Given the description of an element on the screen output the (x, y) to click on. 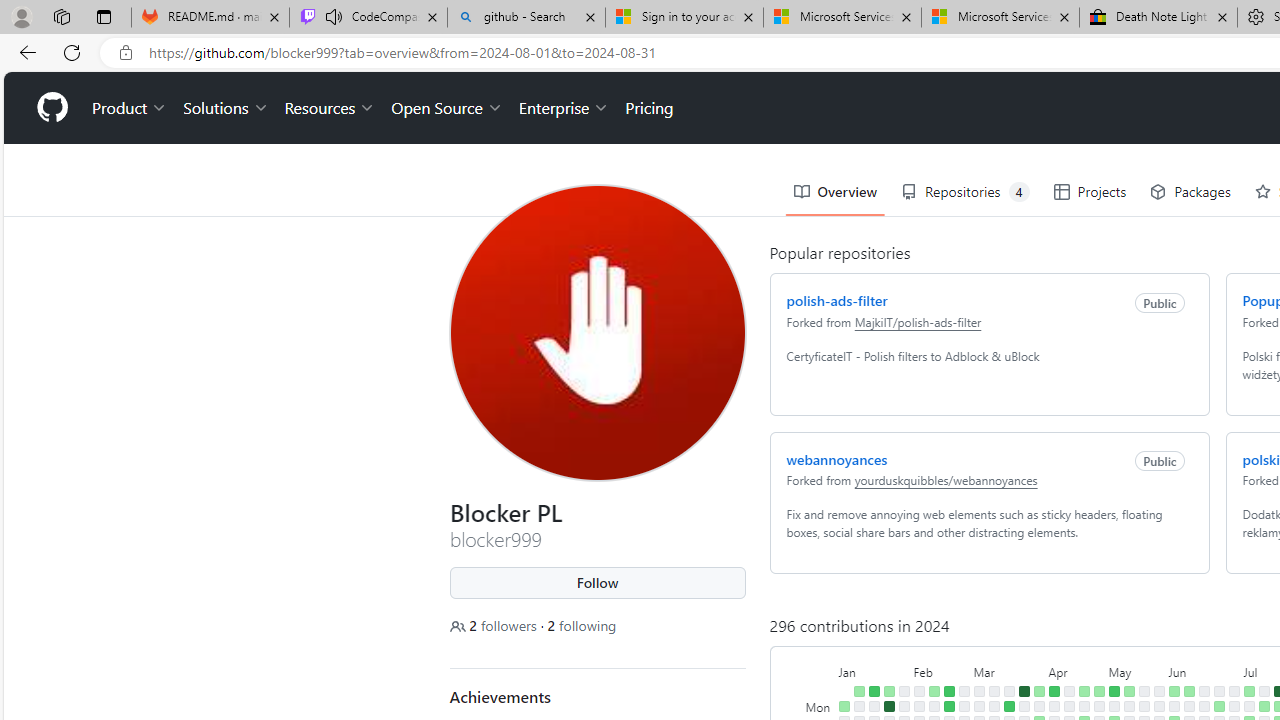
No contributions on May 13th. (1128, 706)
Sign in to your account (683, 17)
No contributions on March 17th. (1009, 691)
Enterprise (563, 107)
1 contribution on January 1st. (843, 706)
2 contributions on January 21st. (888, 691)
Achievements (499, 696)
Sunday (819, 691)
Solutions (225, 107)
Repositories 4 (965, 192)
webannoyances (836, 458)
Product (130, 107)
Open Source (446, 107)
